Given the description of an element on the screen output the (x, y) to click on. 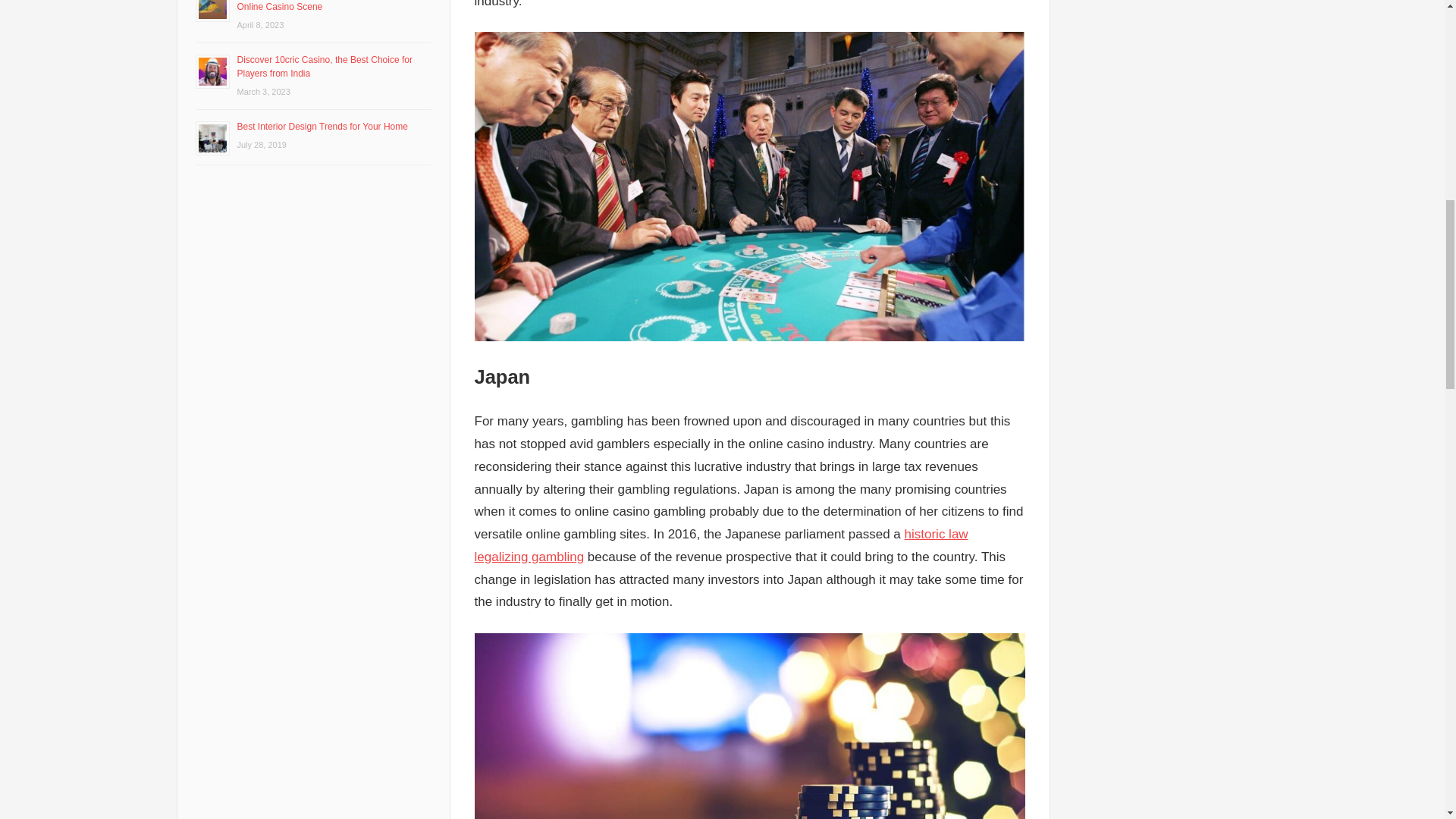
Best Interior Design Trends for Your Home (321, 126)
historic law legalizing gambling (721, 545)
